Given the description of an element on the screen output the (x, y) to click on. 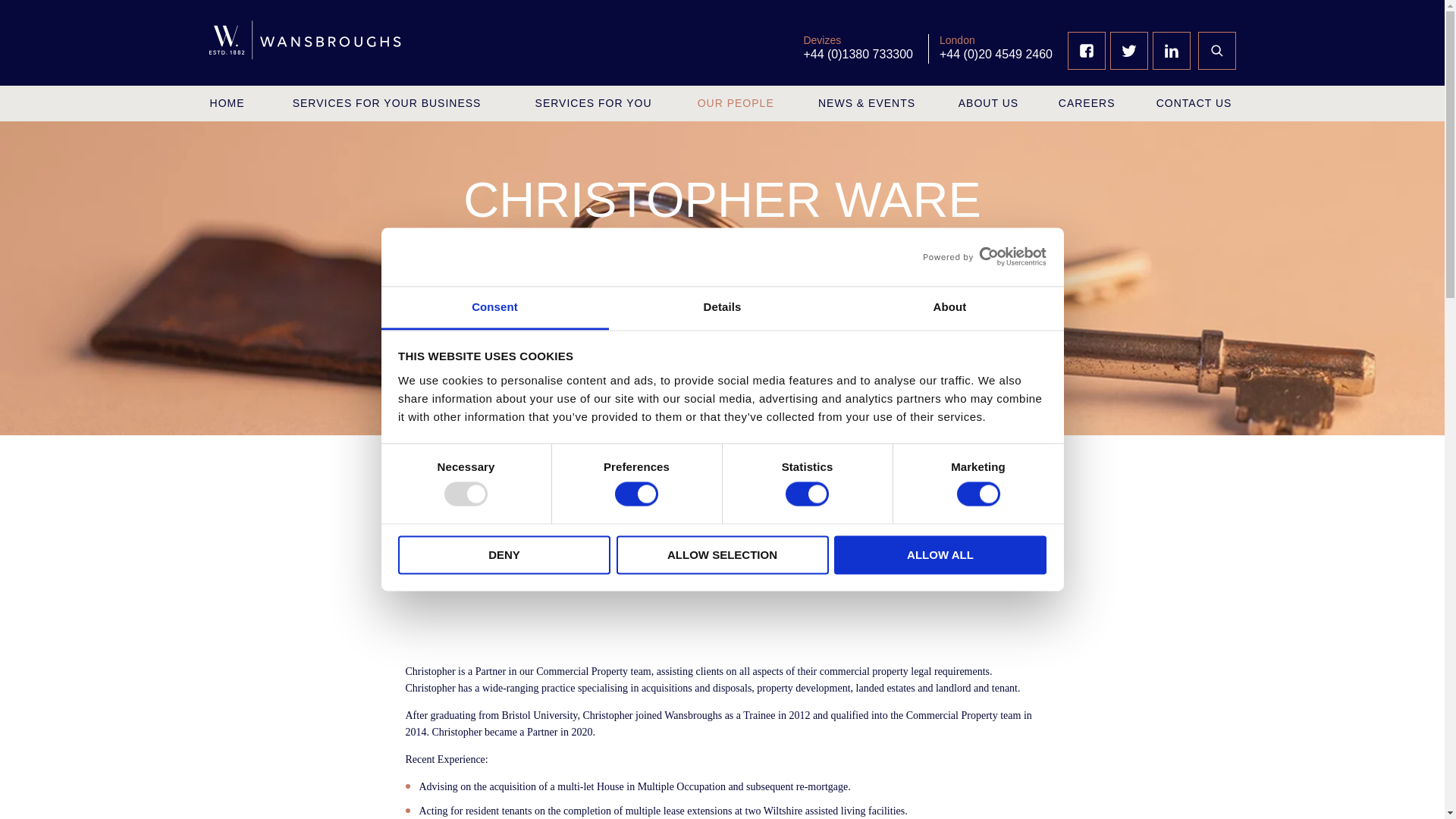
DENY (503, 554)
Consent (494, 308)
ALLOW ALL (940, 554)
Like us on Facebook (1086, 50)
Follow us on Twitter (1128, 50)
ALLOW SELECTION (721, 554)
About (948, 308)
Connect with us on LinkedIn (1171, 50)
Details (721, 308)
